Given the description of an element on the screen output the (x, y) to click on. 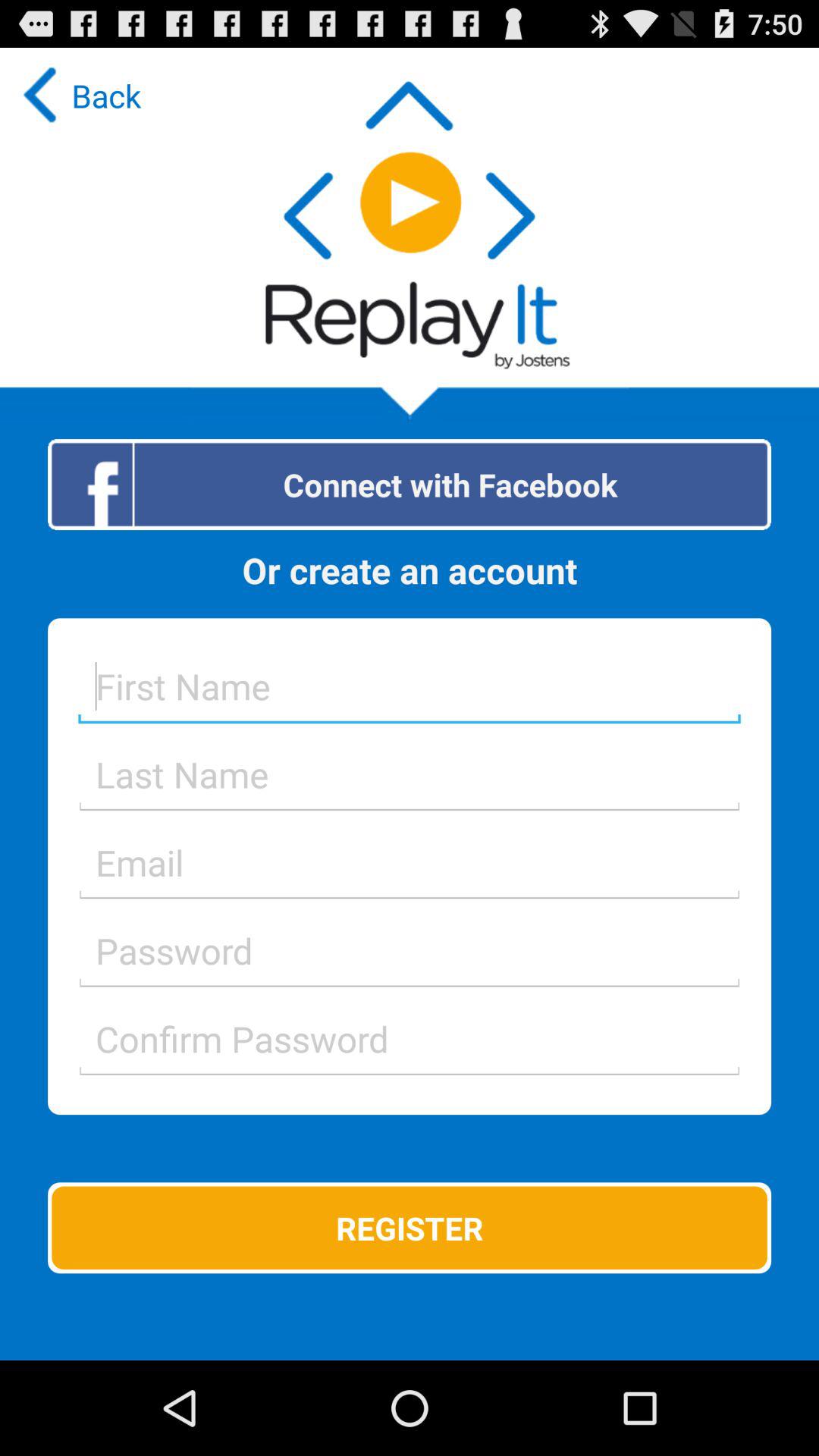
enter the first name (409, 686)
